Given the description of an element on the screen output the (x, y) to click on. 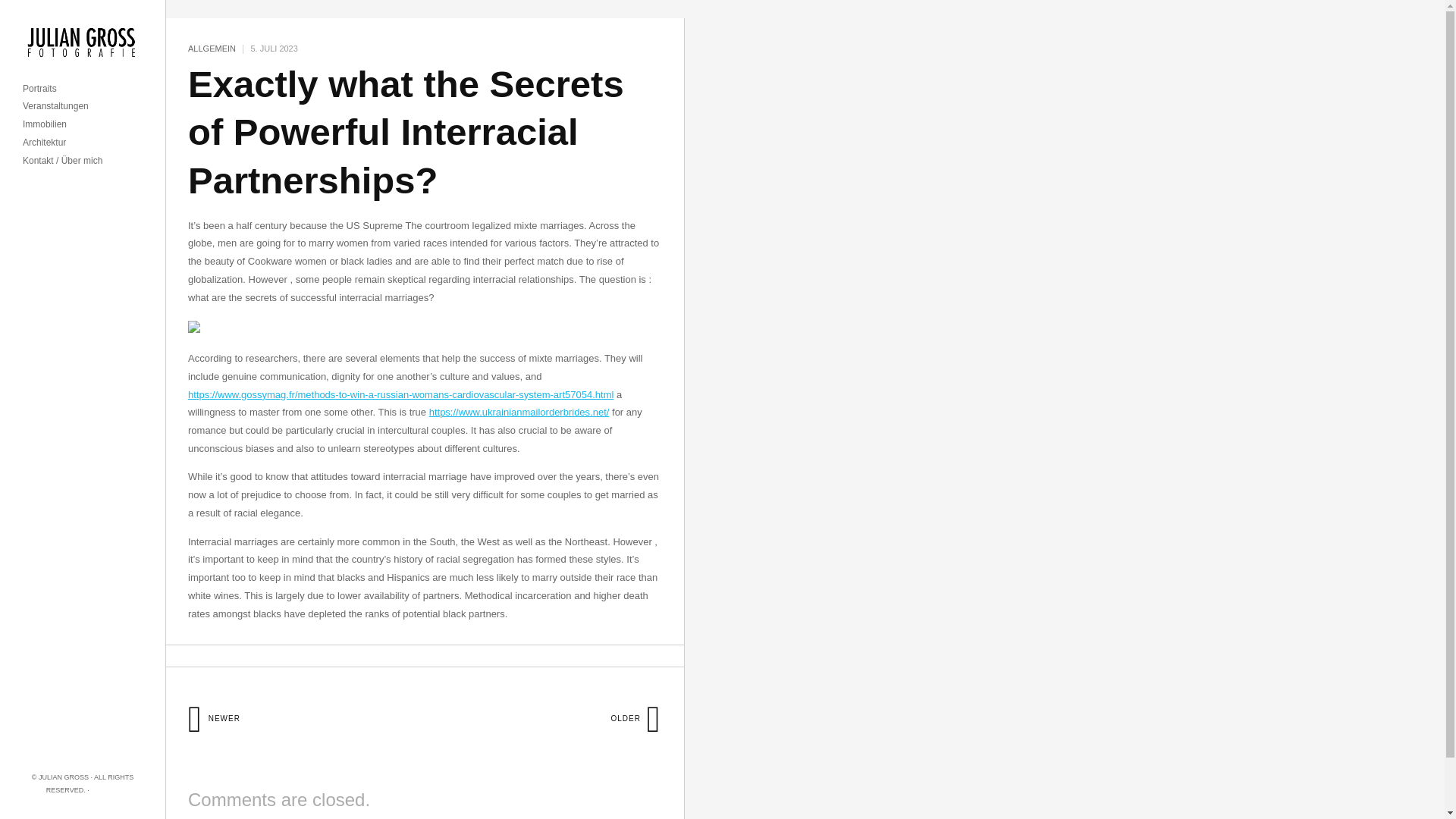
Architektur (44, 143)
Immobilien (44, 124)
NEWER (213, 718)
IMPRINT (104, 789)
OLDER (636, 718)
Portraits (39, 89)
Veranstaltungen (55, 106)
ALLGEMEIN (211, 48)
